Given the description of an element on the screen output the (x, y) to click on. 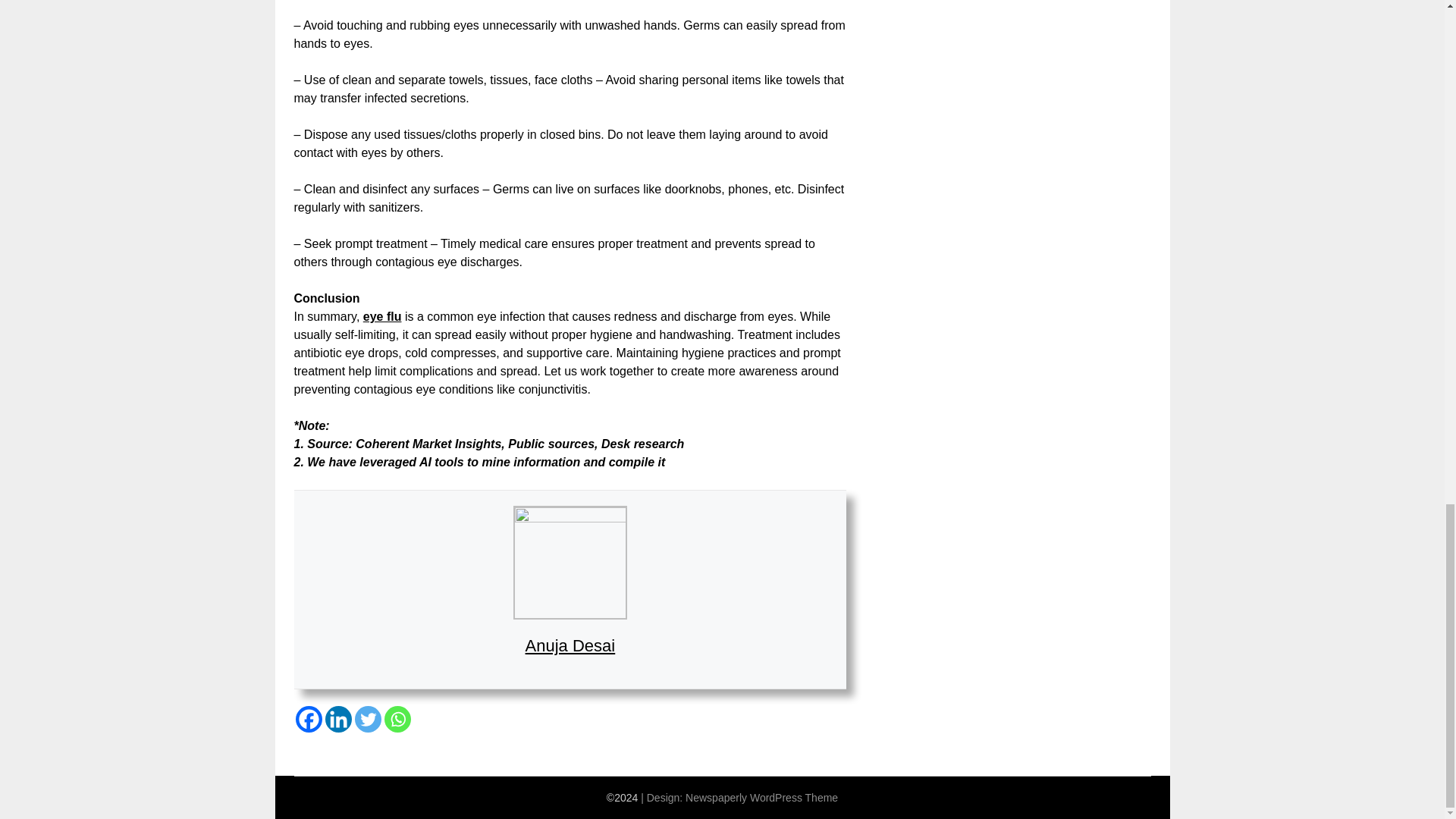
Newspaperly WordPress Theme (761, 797)
Whatsapp (397, 718)
Twitter (368, 718)
Anuja Desai (570, 645)
Facebook (308, 718)
Linkedin (337, 718)
eye flu (381, 316)
